Given the description of an element on the screen output the (x, y) to click on. 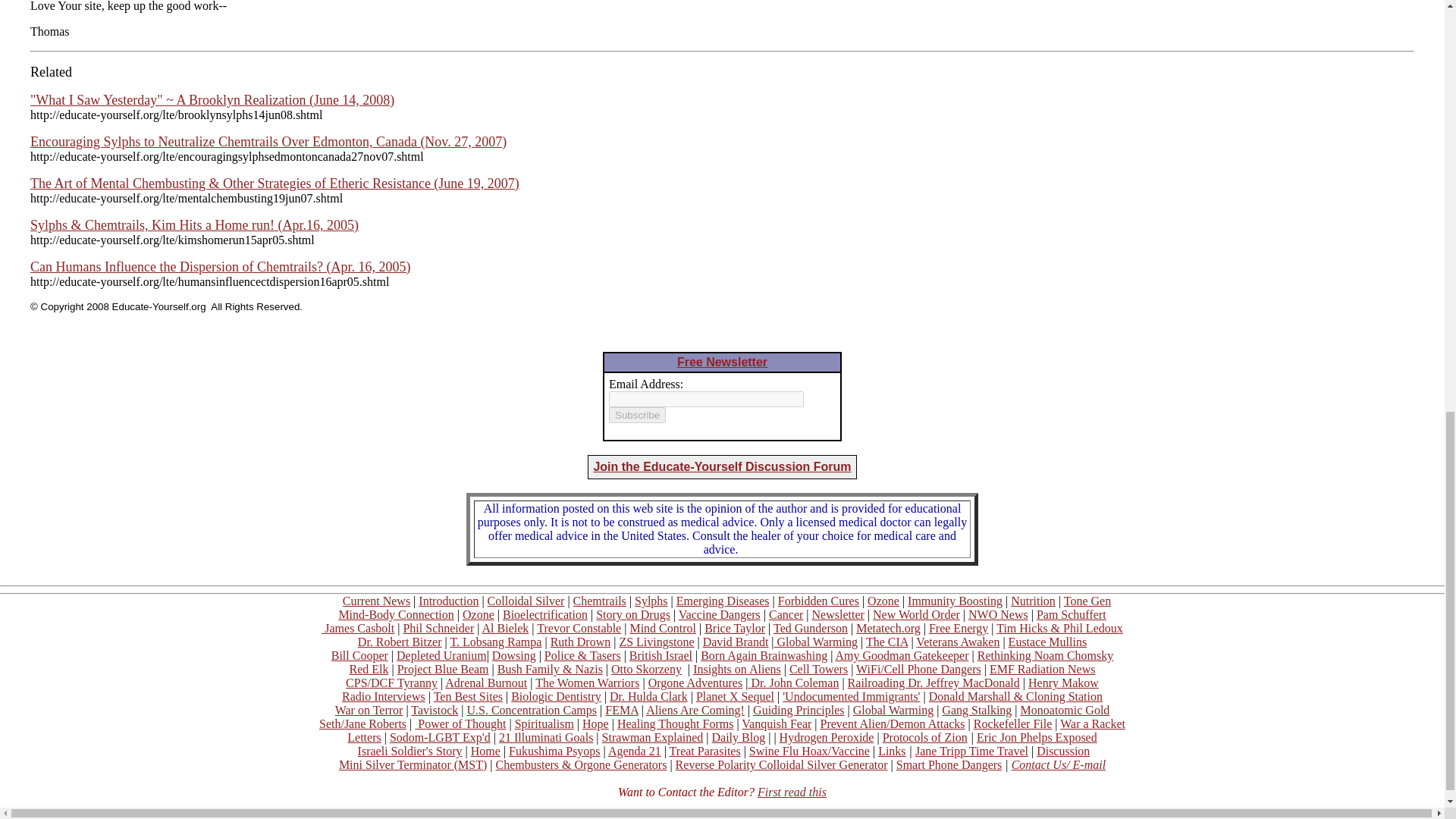
Subscribe (636, 415)
